Given the description of an element on the screen output the (x, y) to click on. 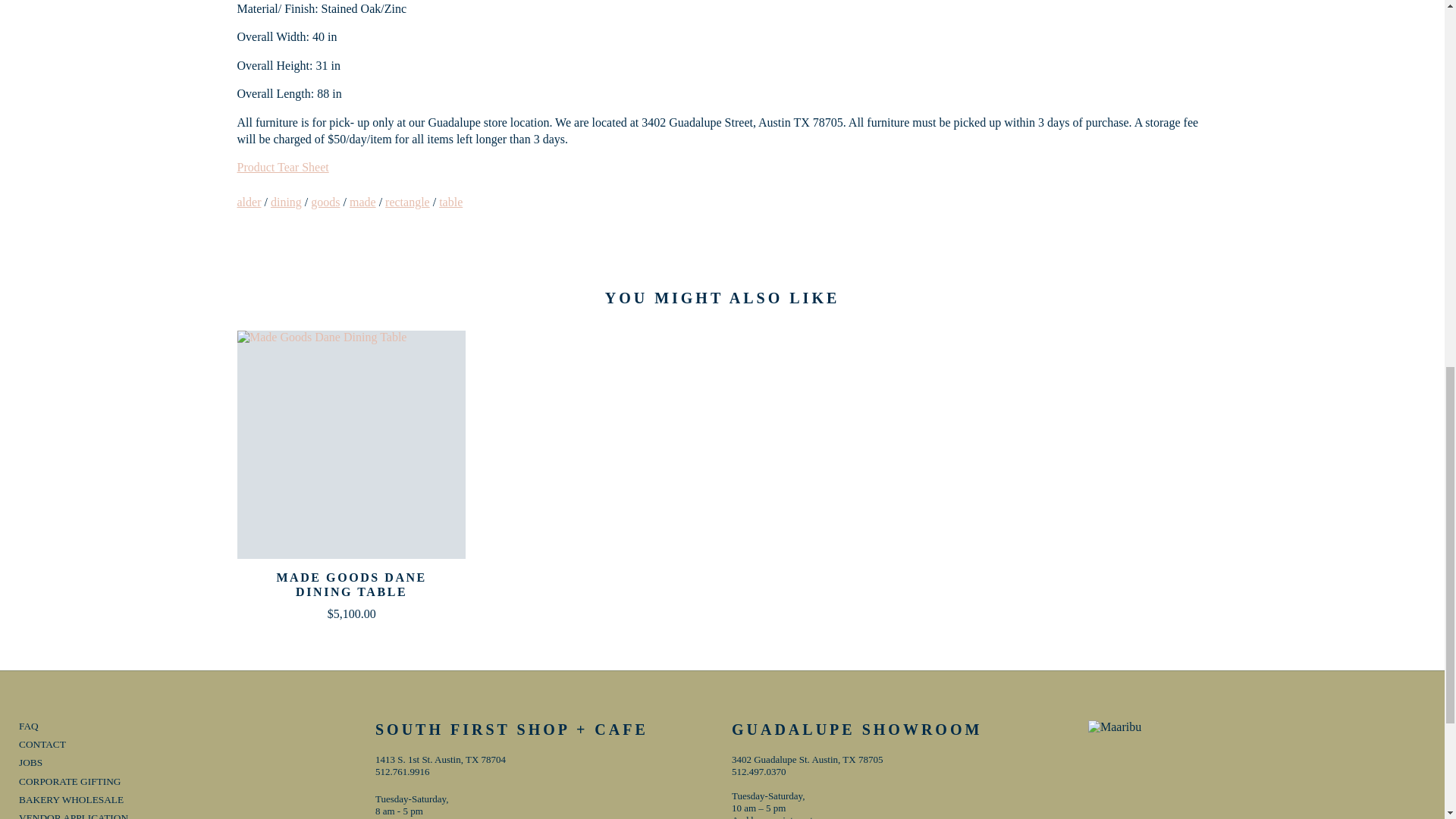
made (362, 201)
Made Goods Dane Dining Table (349, 444)
dining (285, 201)
alder (247, 201)
rectangle (407, 201)
goods (325, 201)
table (451, 201)
